Given the description of an element on the screen output the (x, y) to click on. 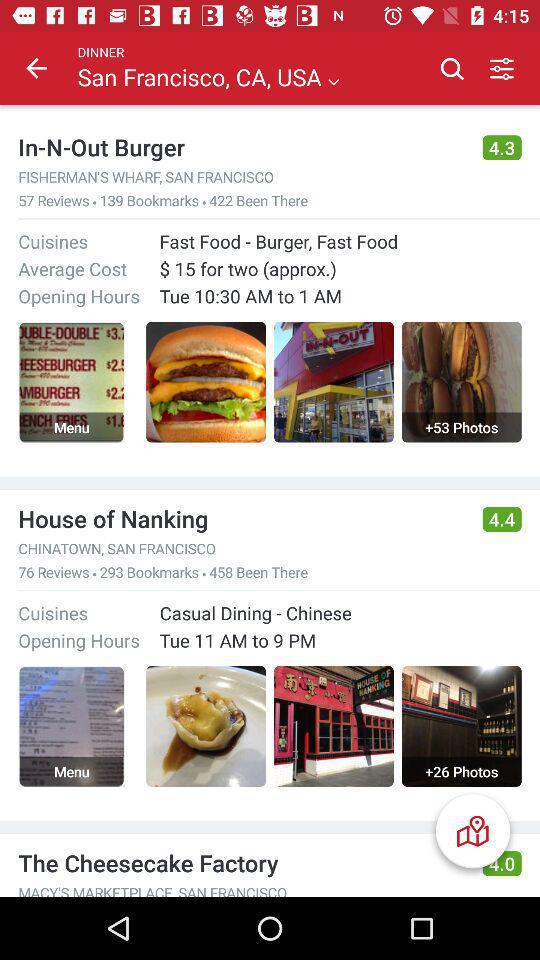
turn on the the cheesecake factory (241, 862)
